Given the description of an element on the screen output the (x, y) to click on. 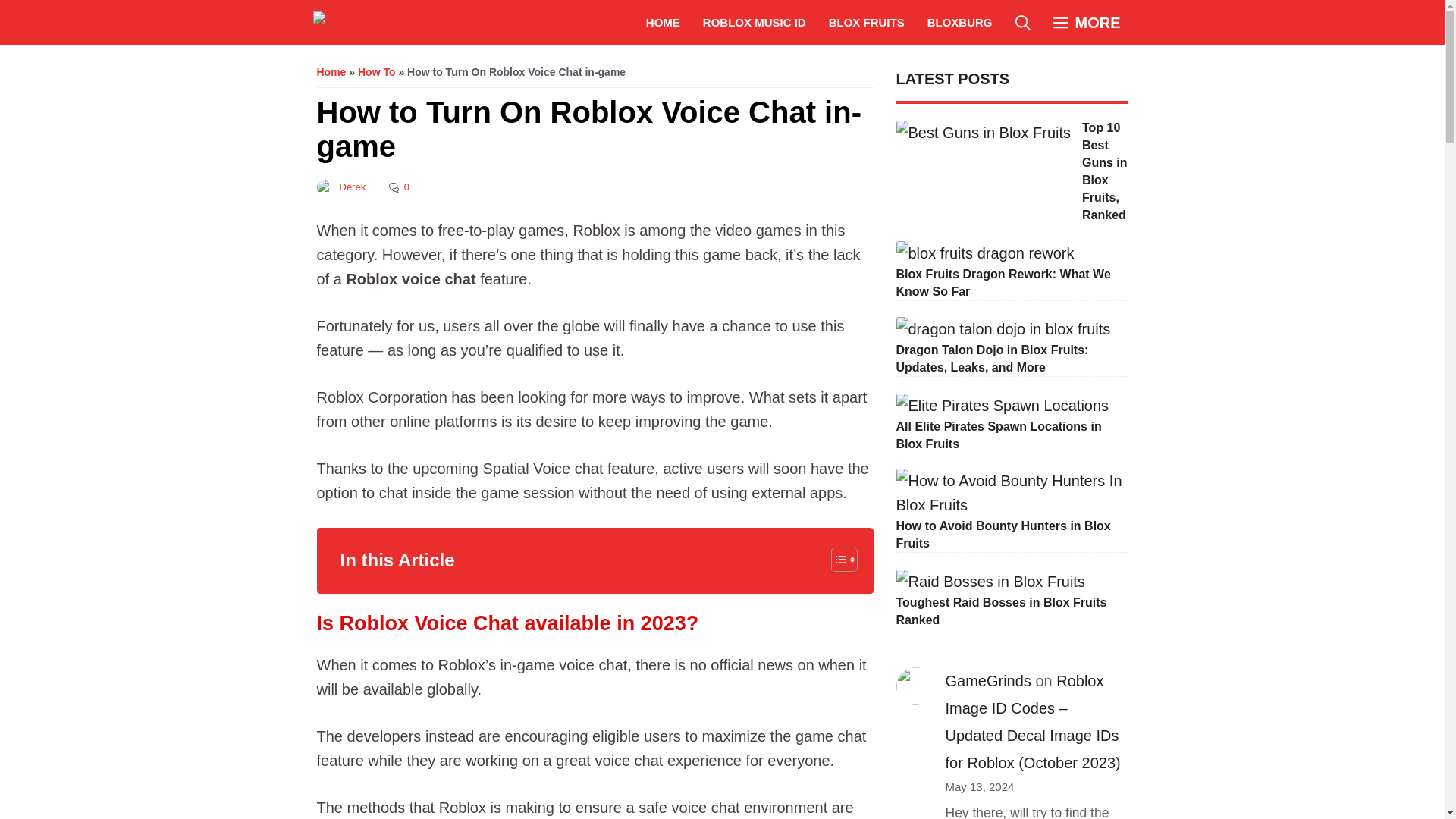
ROBLOX MUSIC ID (753, 22)
BLOXBURG (959, 22)
Derek (352, 186)
HOME (662, 22)
Welcome to Bloxburg (959, 22)
BLOX FRUITS (865, 22)
Home (331, 71)
MORE (1087, 22)
How To (377, 71)
